Given the description of an element on the screen output the (x, y) to click on. 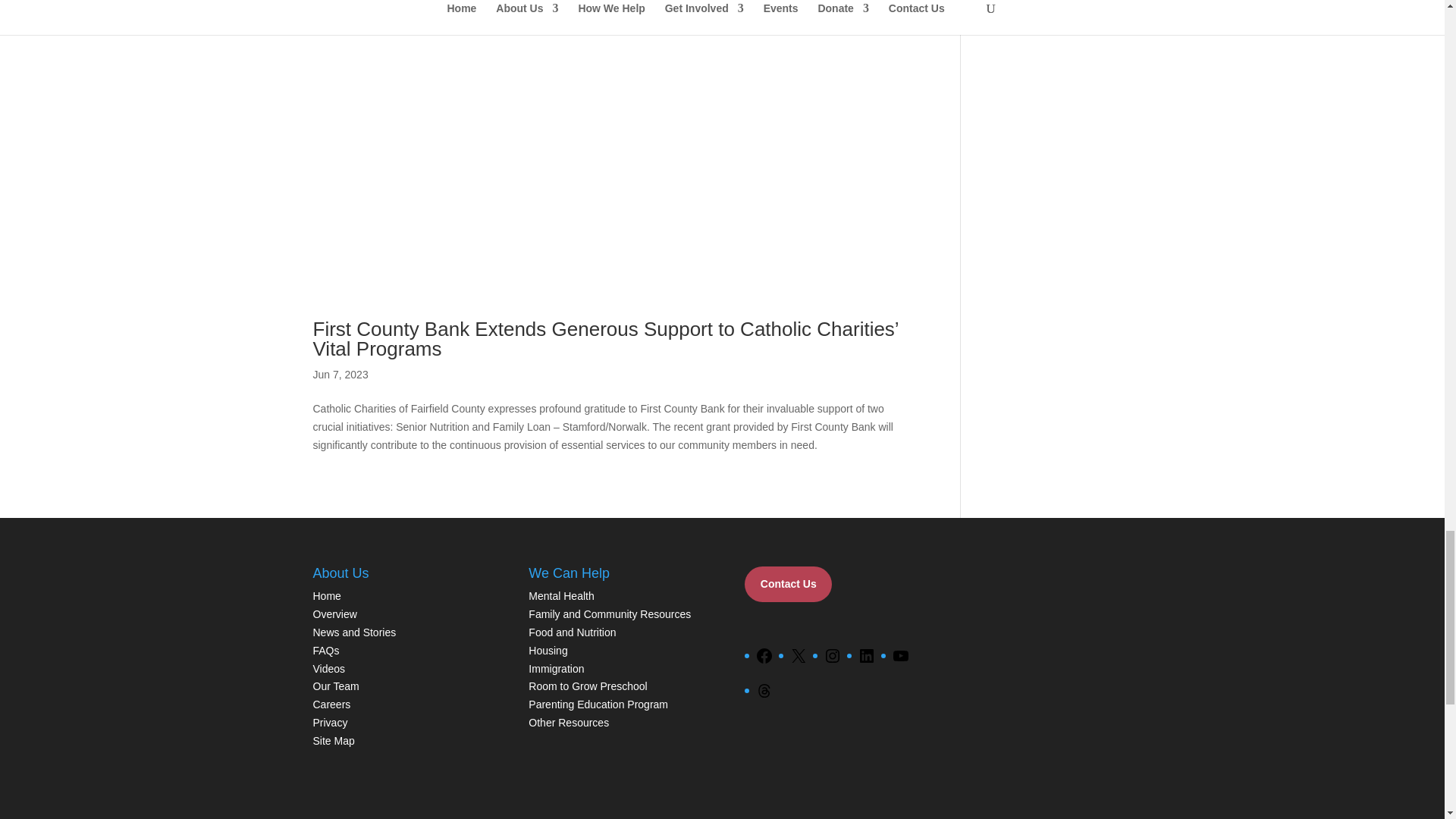
Home (326, 595)
Videos (329, 668)
Our Team (335, 686)
News and Stories (354, 632)
FAQs (326, 650)
Overview (334, 613)
